Given the description of an element on the screen output the (x, y) to click on. 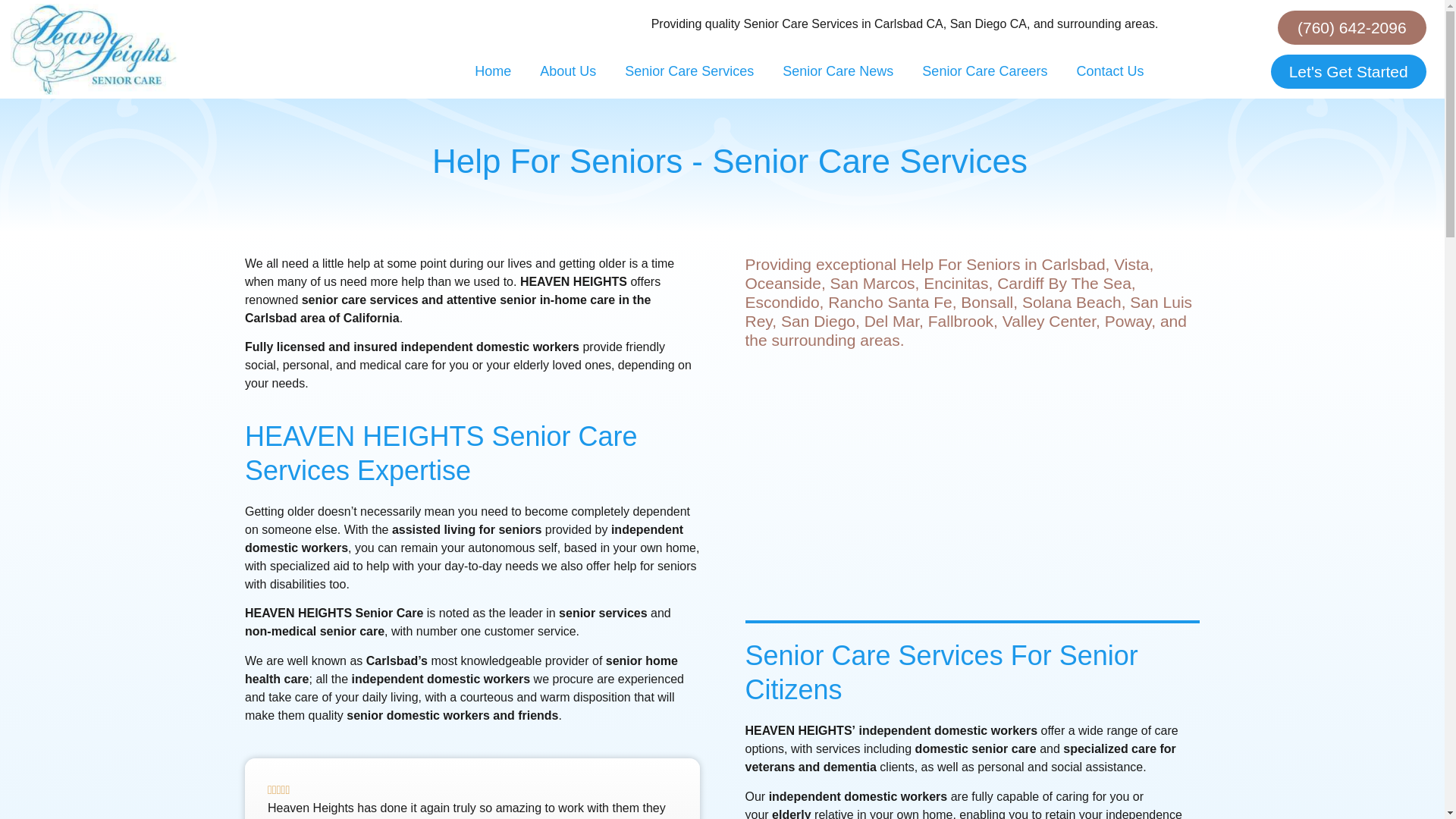
Senior Care Services (689, 70)
Senior Care News (837, 70)
About Us (567, 70)
Let's Get Started (1348, 71)
Senior Care Careers (984, 70)
Contact Us (1109, 70)
Home (492, 70)
